Given the description of an element on the screen output the (x, y) to click on. 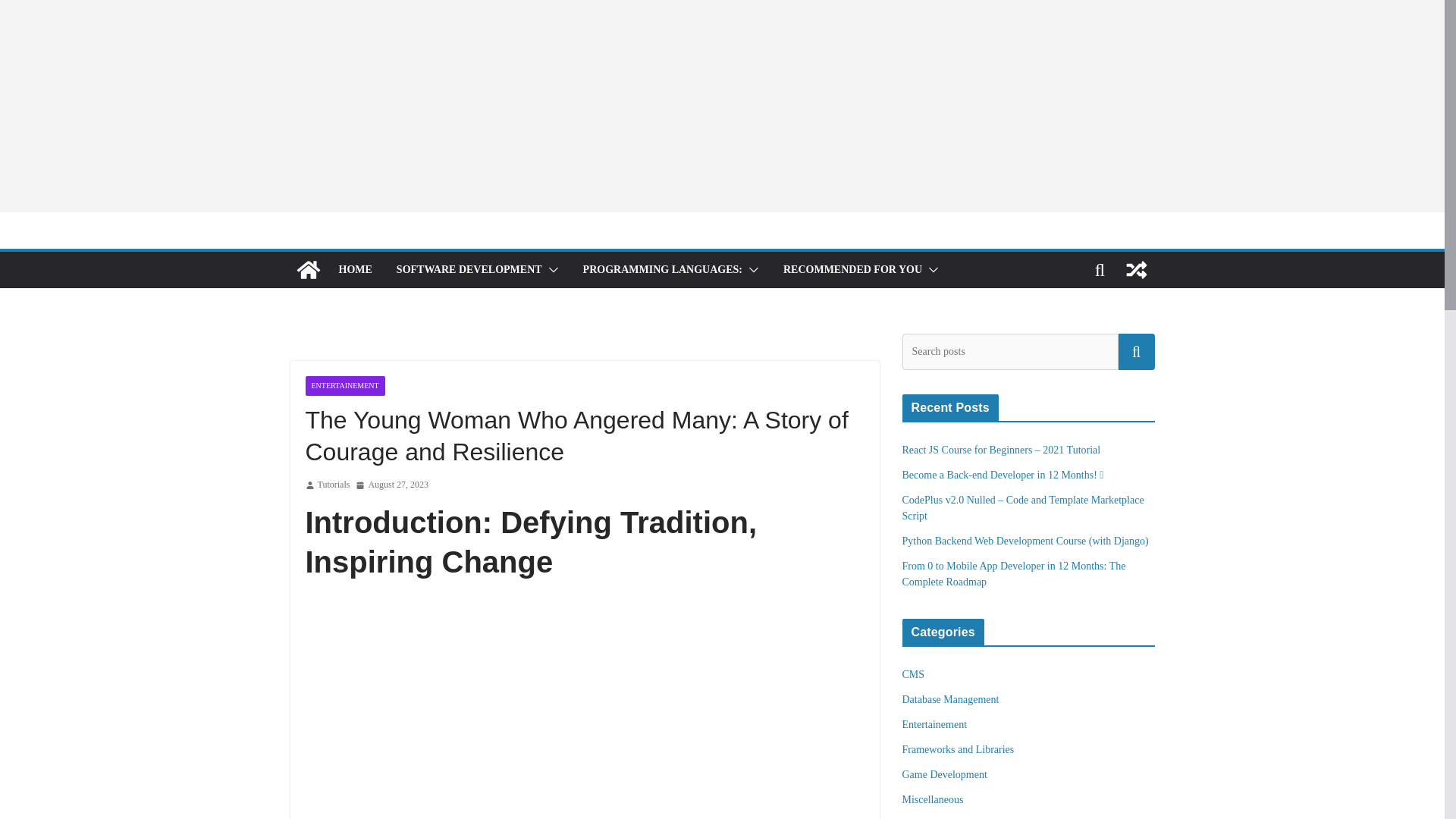
August 27, 2023 (391, 484)
YouTube player (584, 708)
PROGRAMMING LANGUAGES: (662, 269)
Tutorials (333, 484)
4:06 pm (391, 484)
RECOMMENDED FOR YOU (852, 269)
HOME (354, 269)
View a random post (1136, 269)
SOFTWARE DEVELOPMENT (468, 269)
Ok (1136, 351)
ENTERTAINEMENT (344, 385)
Tutorials (333, 484)
Series Tutorials (307, 269)
